Given the description of an element on the screen output the (x, y) to click on. 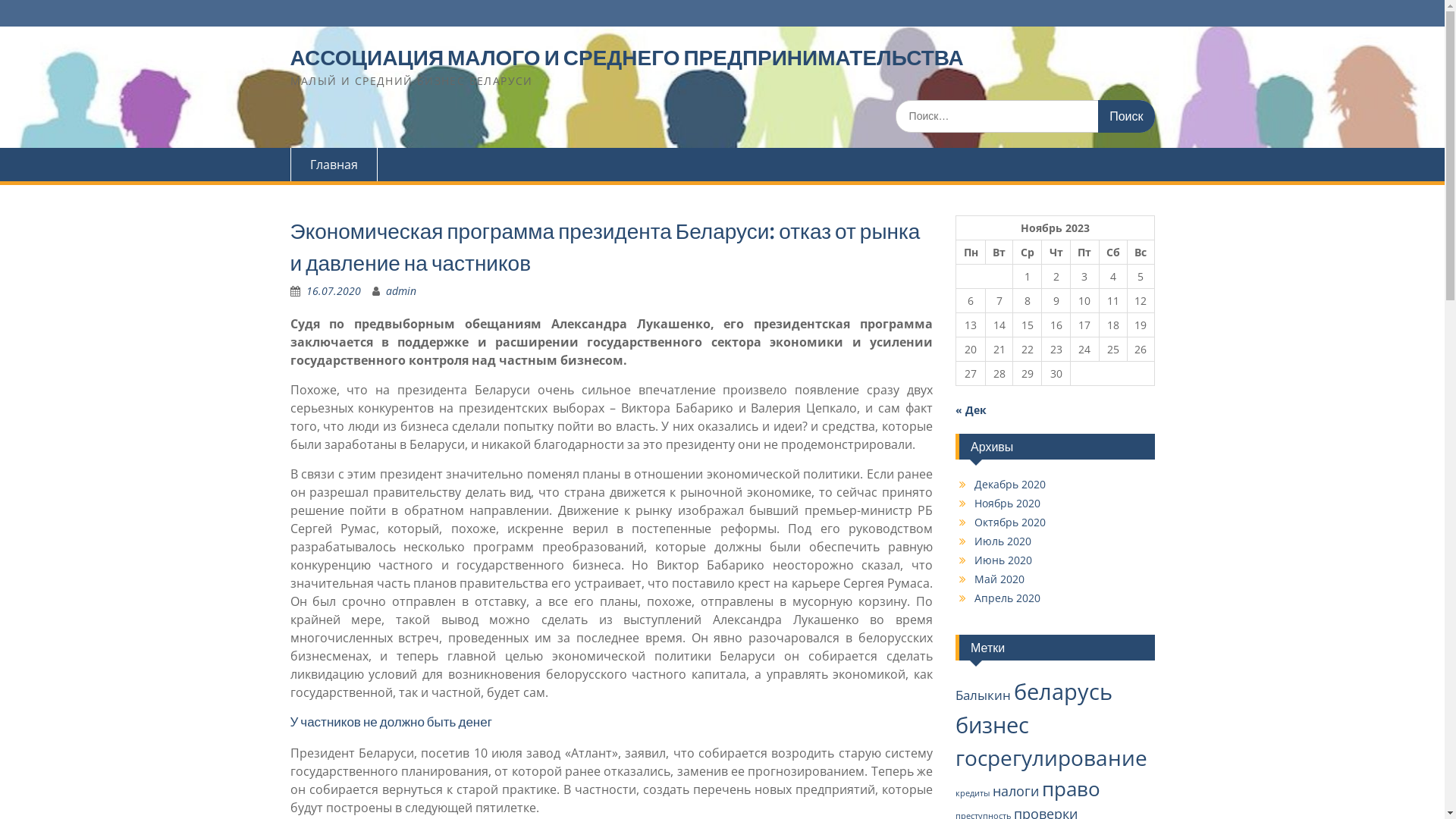
admin Element type: text (400, 290)
16.07.2020 Element type: text (333, 290)
